Given the description of an element on the screen output the (x, y) to click on. 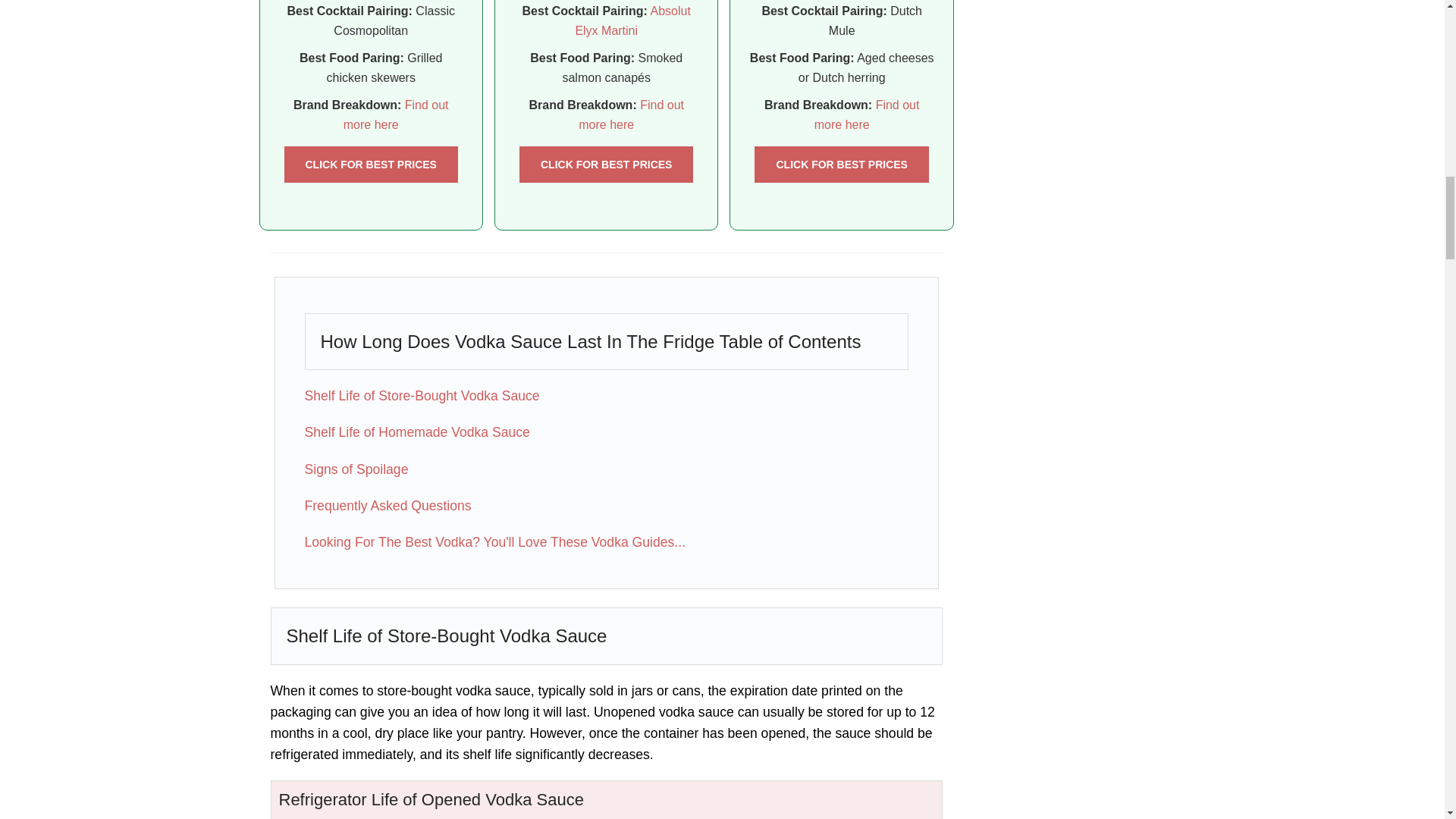
CLICK FOR BEST PRICES (841, 164)
CLICK FOR BEST PRICES (606, 164)
Find out more here (395, 114)
Find out more here (866, 114)
Absolut Elyx Martini (632, 20)
Shelf Life of Store-Bought Vodka Sauce (422, 395)
Find out more here (631, 114)
CLICK FOR BEST PRICES (370, 164)
